Given the description of an element on the screen output the (x, y) to click on. 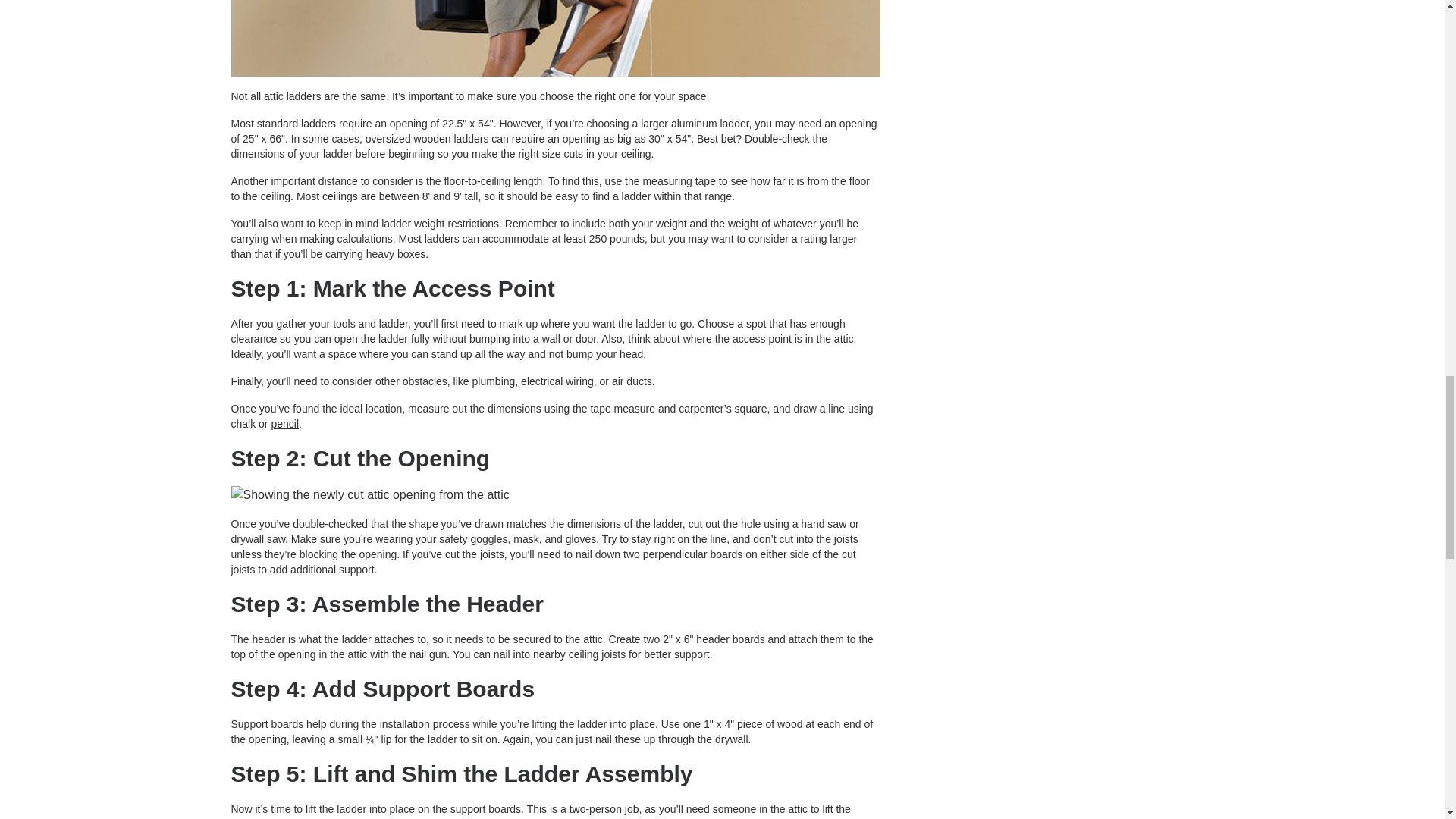
pencil (284, 423)
drywall saw (257, 539)
Showing the newly cut attic opening from the attic  (554, 495)
Woman carrying a storage tote up attic stairs (554, 38)
